Given the description of an element on the screen output the (x, y) to click on. 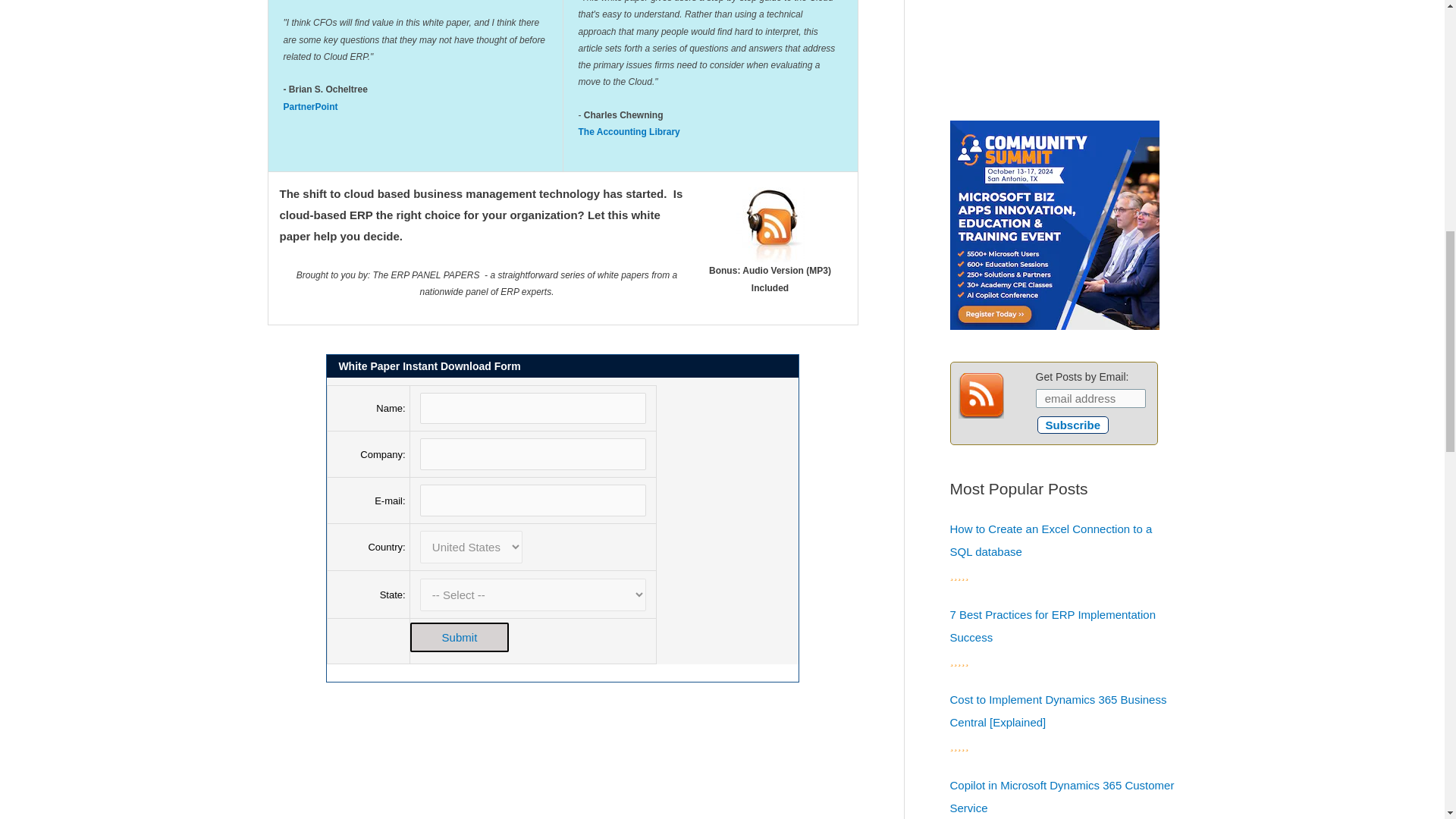
Submit (459, 636)
Subscribe (1072, 425)
